Given the description of an element on the screen output the (x, y) to click on. 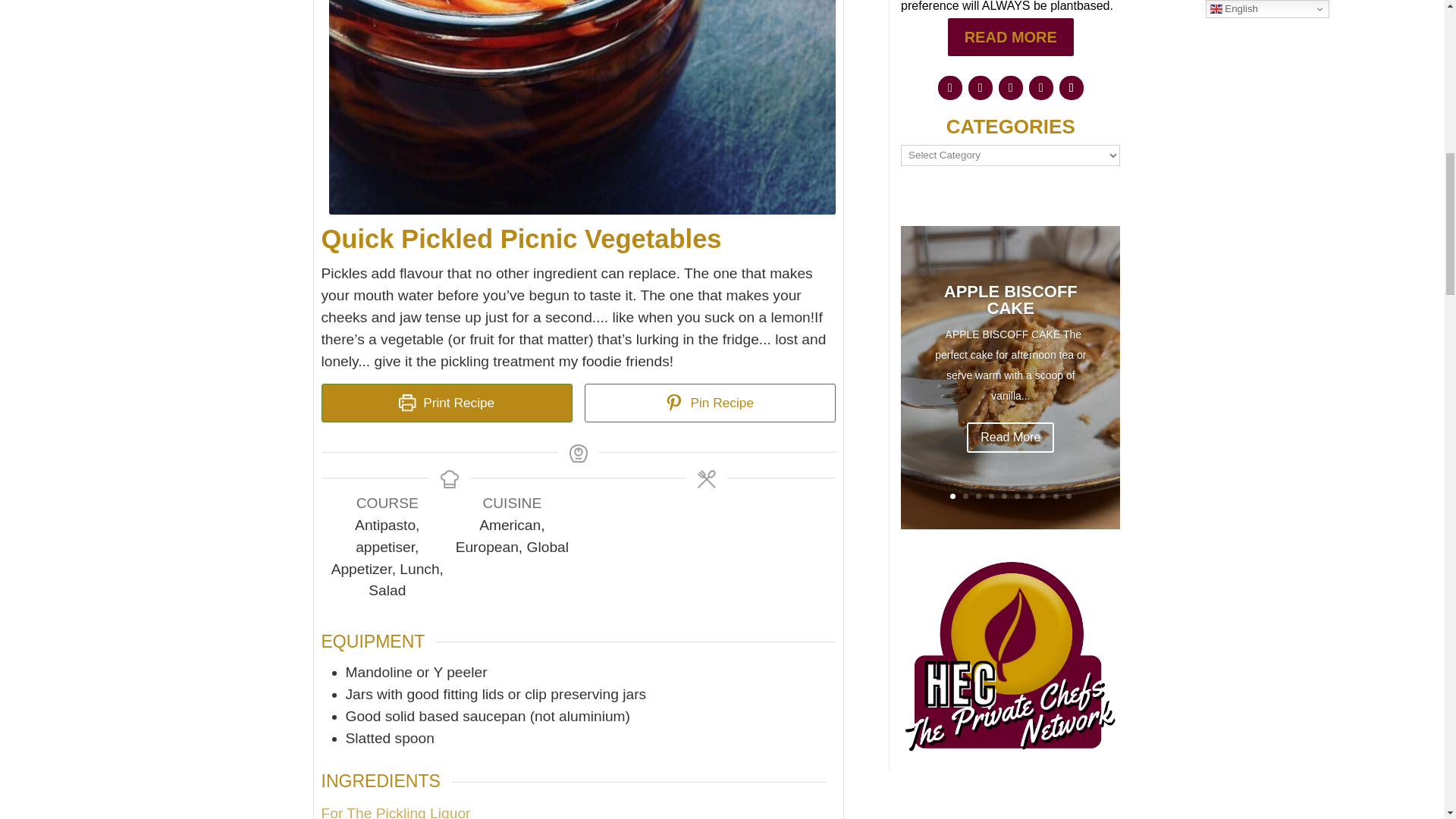
Print Recipe (446, 403)
READ MORE (1010, 37)
Read More (1010, 442)
APPLE BISCOFF CAKE (1010, 306)
Pin Recipe (710, 403)
